Given the description of an element on the screen output the (x, y) to click on. 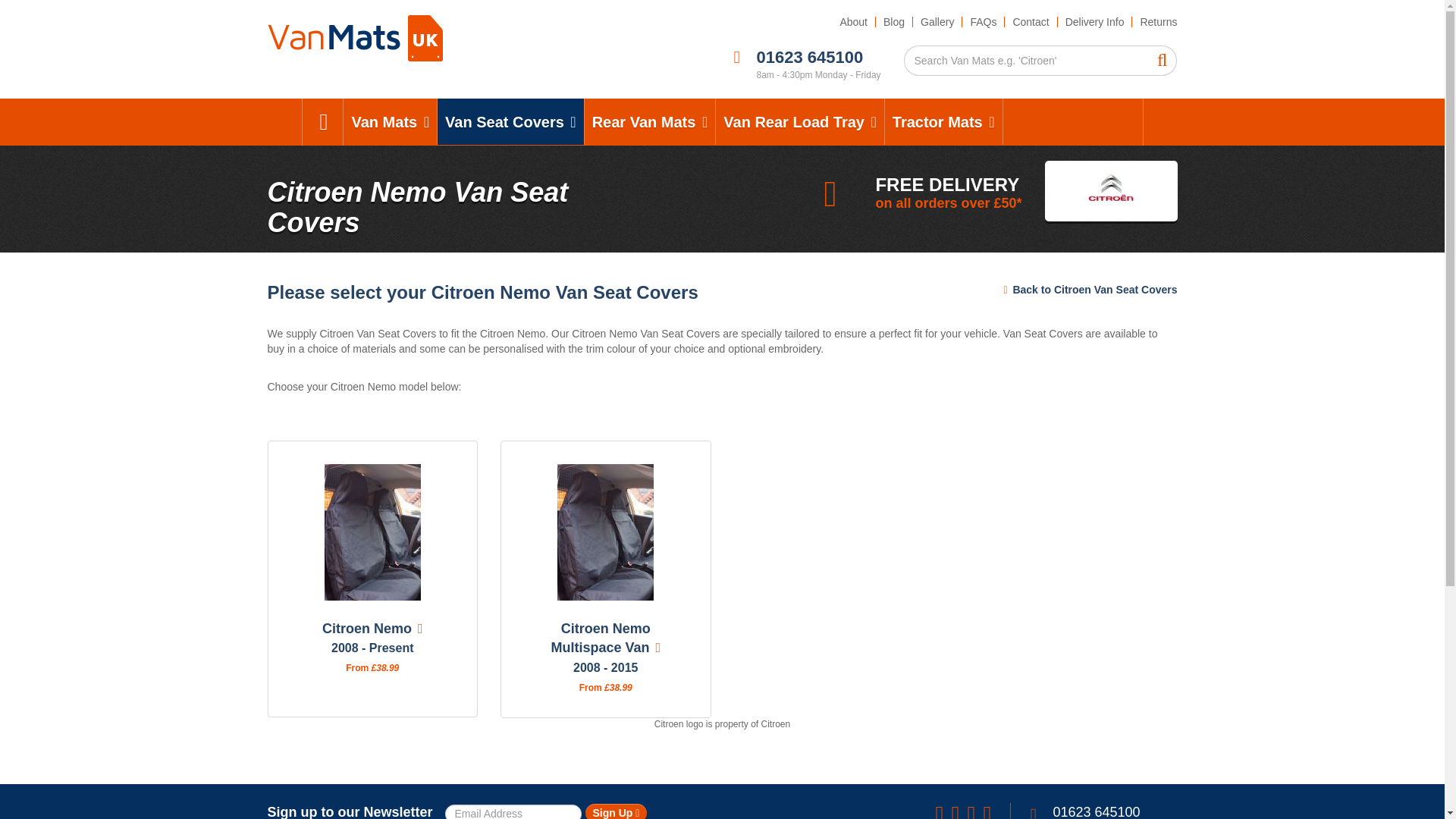
FAQs (983, 21)
Blog (894, 21)
Van Seat Covers (510, 121)
01623 645100 (810, 56)
Delivery Info (1095, 21)
About (853, 21)
Returns (1154, 21)
Contact (1030, 21)
Search (1162, 60)
Van Mats (389, 121)
